Given the description of an element on the screen output the (x, y) to click on. 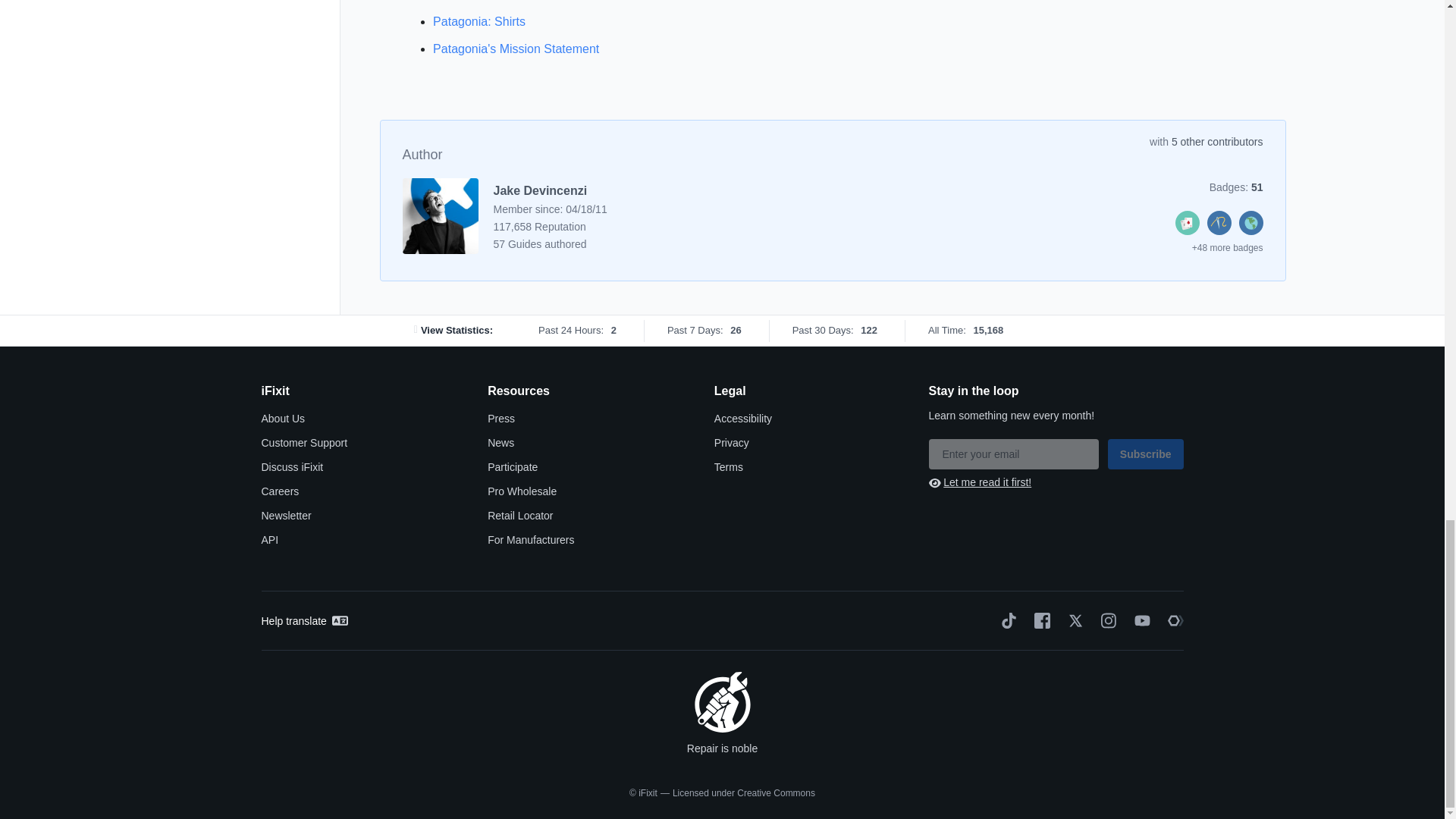
Hit the daily reputation limit for Answers (1186, 231)
